Given the description of an element on the screen output the (x, y) to click on. 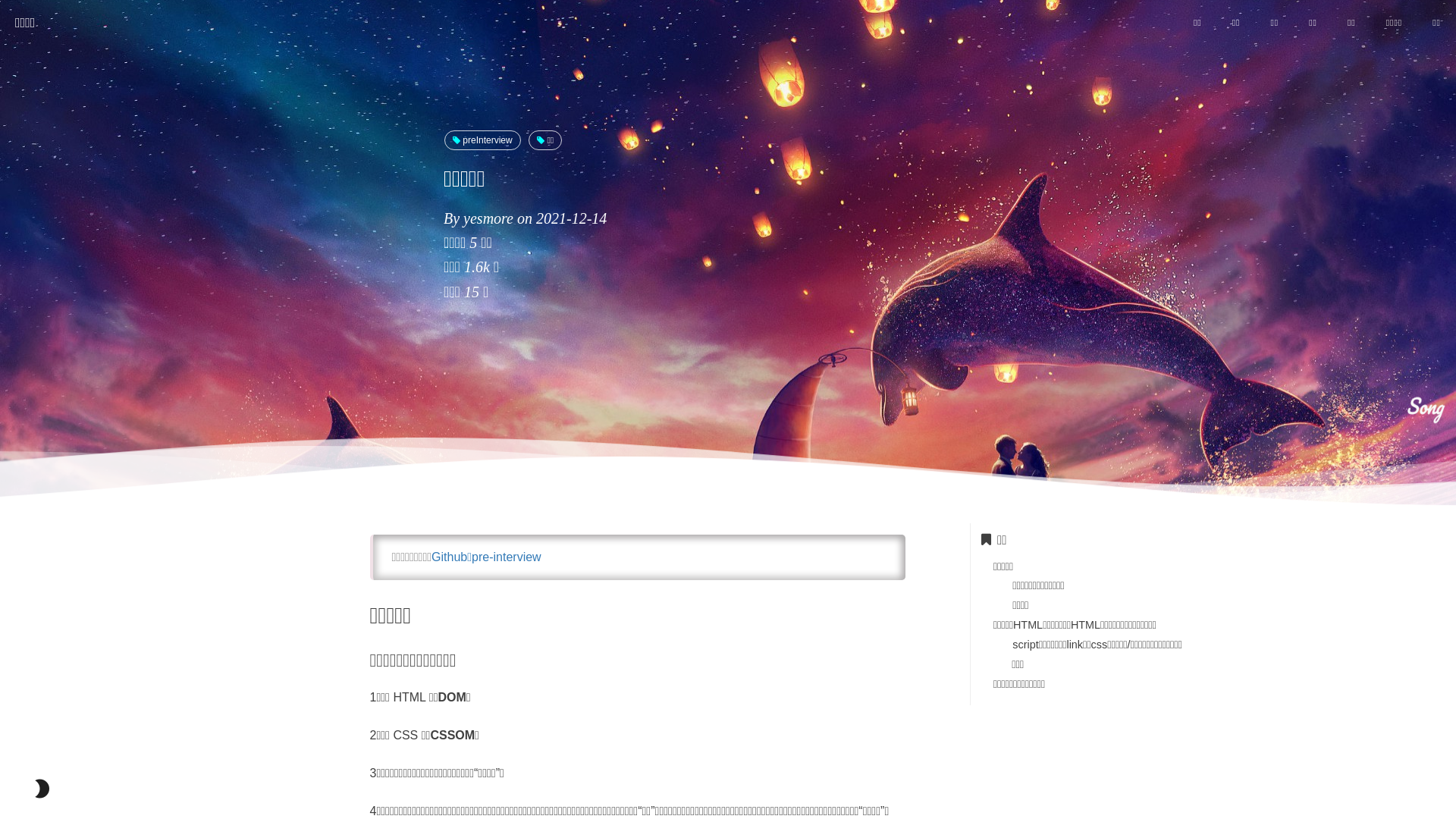
preInterview Element type: text (482, 140)
